Given the description of an element on the screen output the (x, y) to click on. 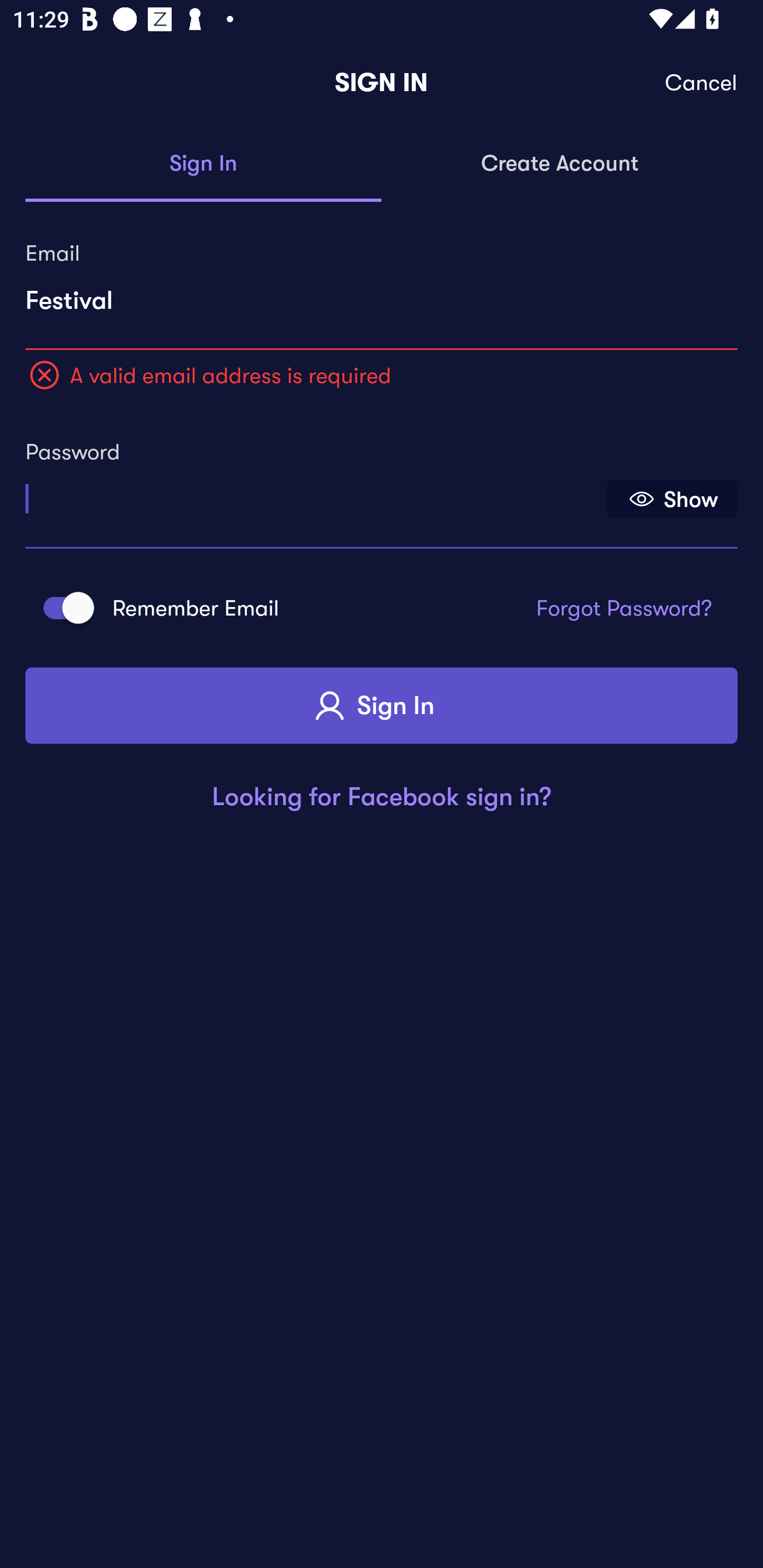
Cancel (701, 82)
Sign In (203, 164)
Create Account (559, 164)
Password (314, 493)
Show Password Show (671, 498)
Remember Email (62, 607)
Sign In (381, 705)
